Given the description of an element on the screen output the (x, y) to click on. 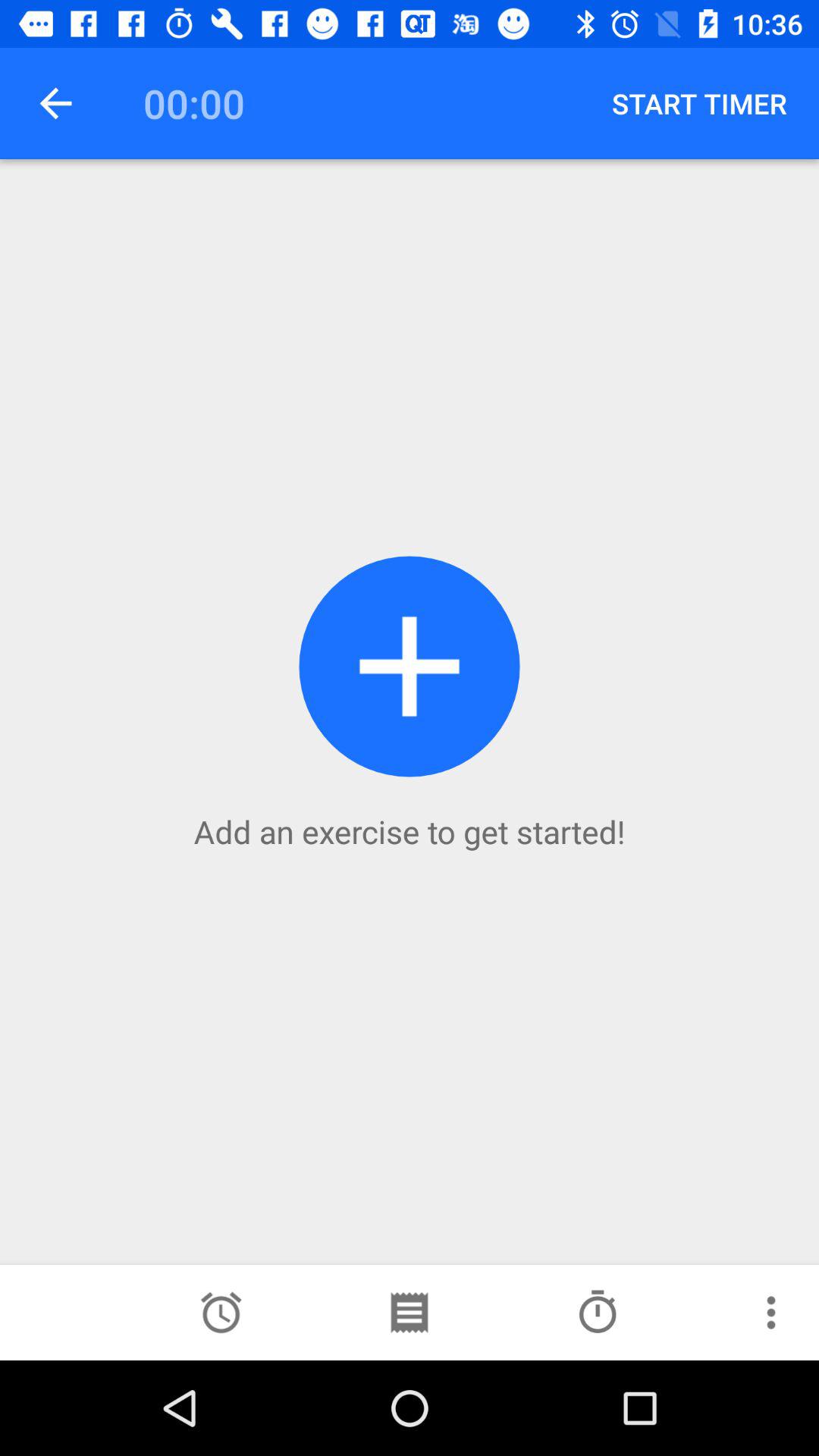
more information (771, 1312)
